Given the description of an element on the screen output the (x, y) to click on. 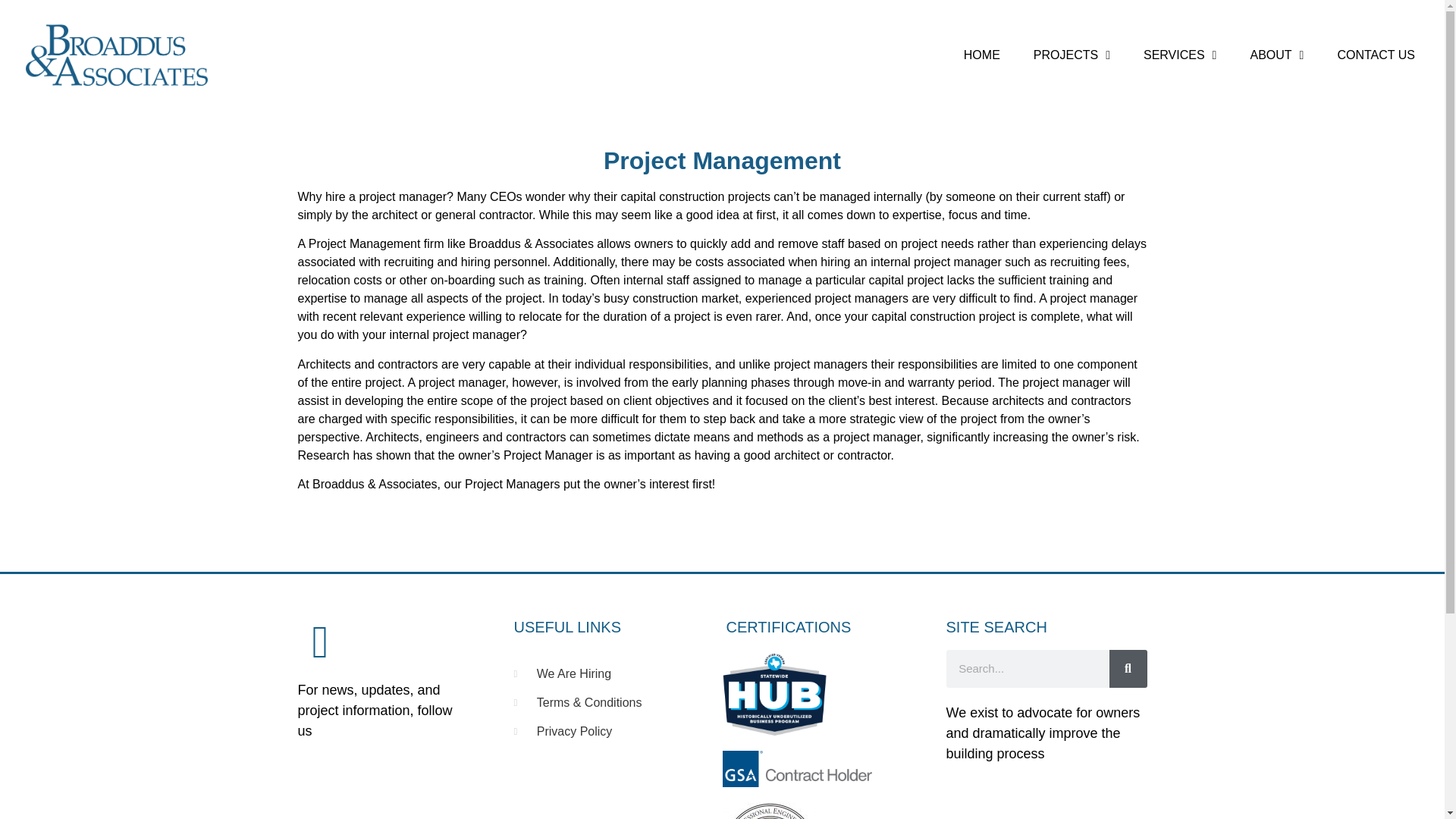
SERVICES (1179, 54)
CONTACT US (1375, 54)
PROJECTS (1071, 54)
HOME (981, 54)
ABOUT (1276, 54)
